Given the description of an element on the screen output the (x, y) to click on. 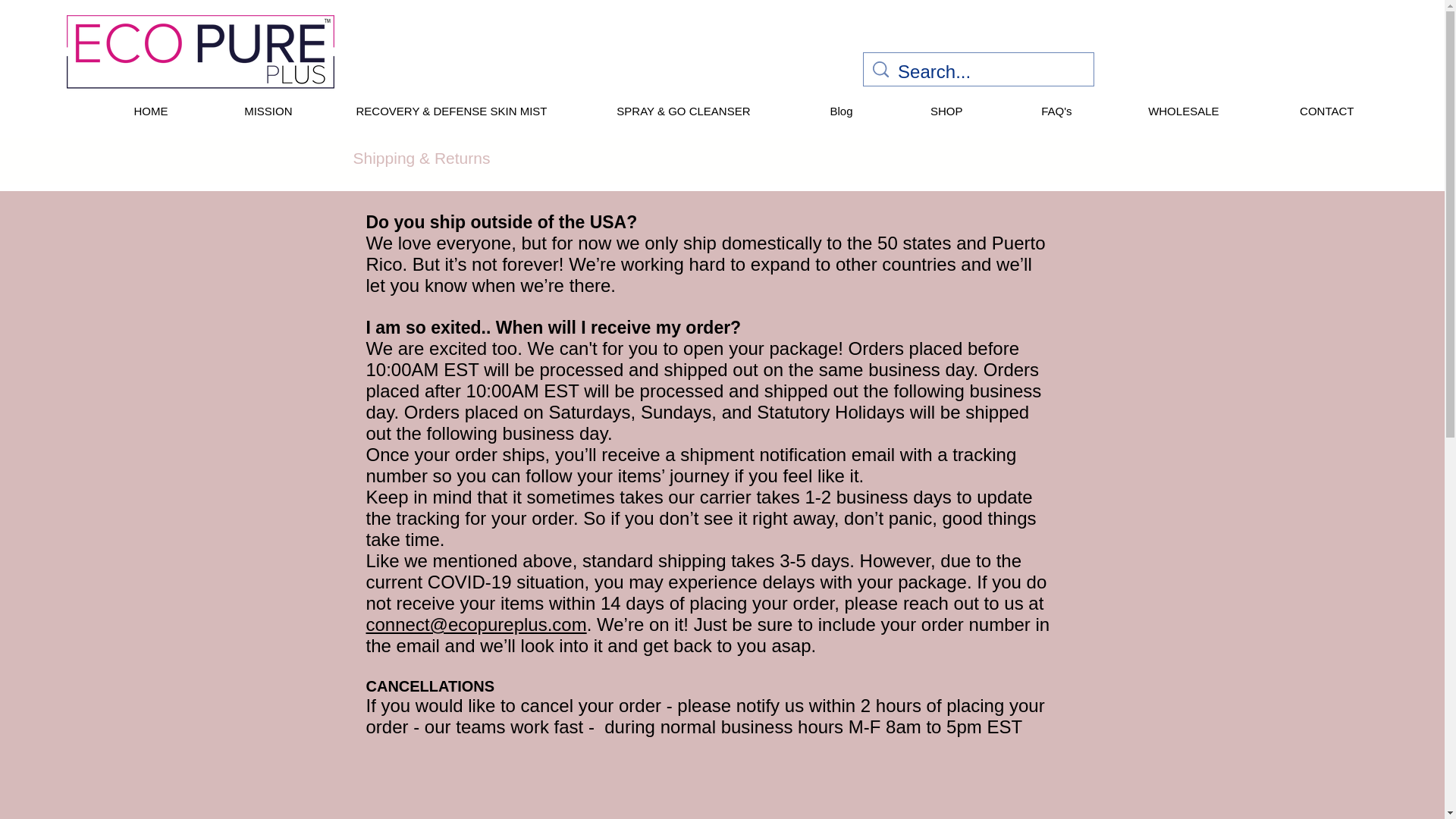
WHOLESALE (1156, 110)
FAQ's (1028, 110)
CONTACT (1297, 110)
Blog (812, 110)
HOME (122, 110)
SHOP (919, 110)
MISSION (240, 110)
